Given the description of an element on the screen output the (x, y) to click on. 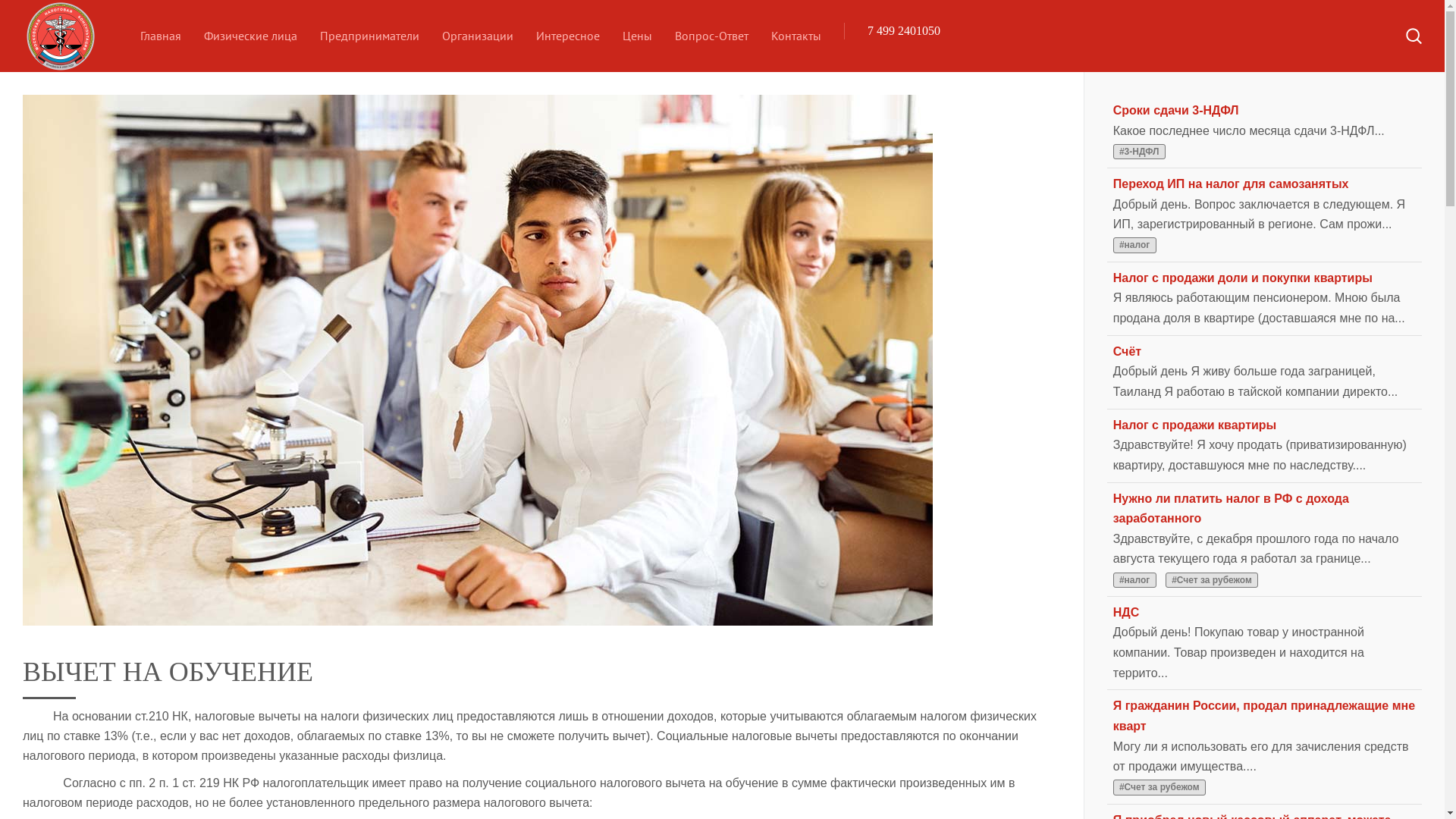
7 499 2401050 Element type: text (903, 30)
